Given the description of an element on the screen output the (x, y) to click on. 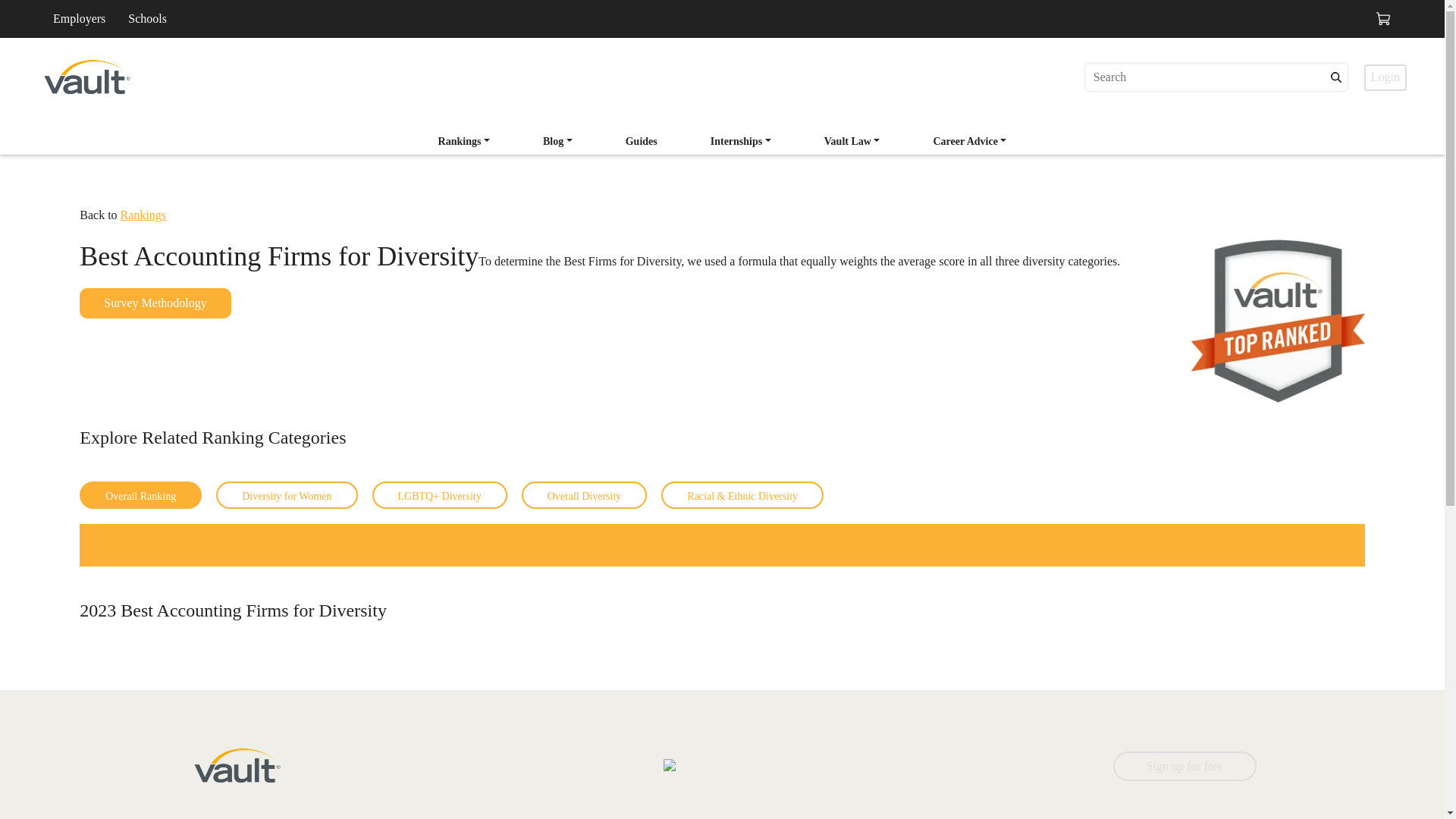
Blog (557, 142)
Survey Methodology (155, 303)
Guides (641, 141)
Guides (722, 135)
Vault Law (641, 142)
Career Advice (852, 142)
Rankings (968, 141)
Blog (464, 142)
Diversity for Women (557, 141)
